Given the description of an element on the screen output the (x, y) to click on. 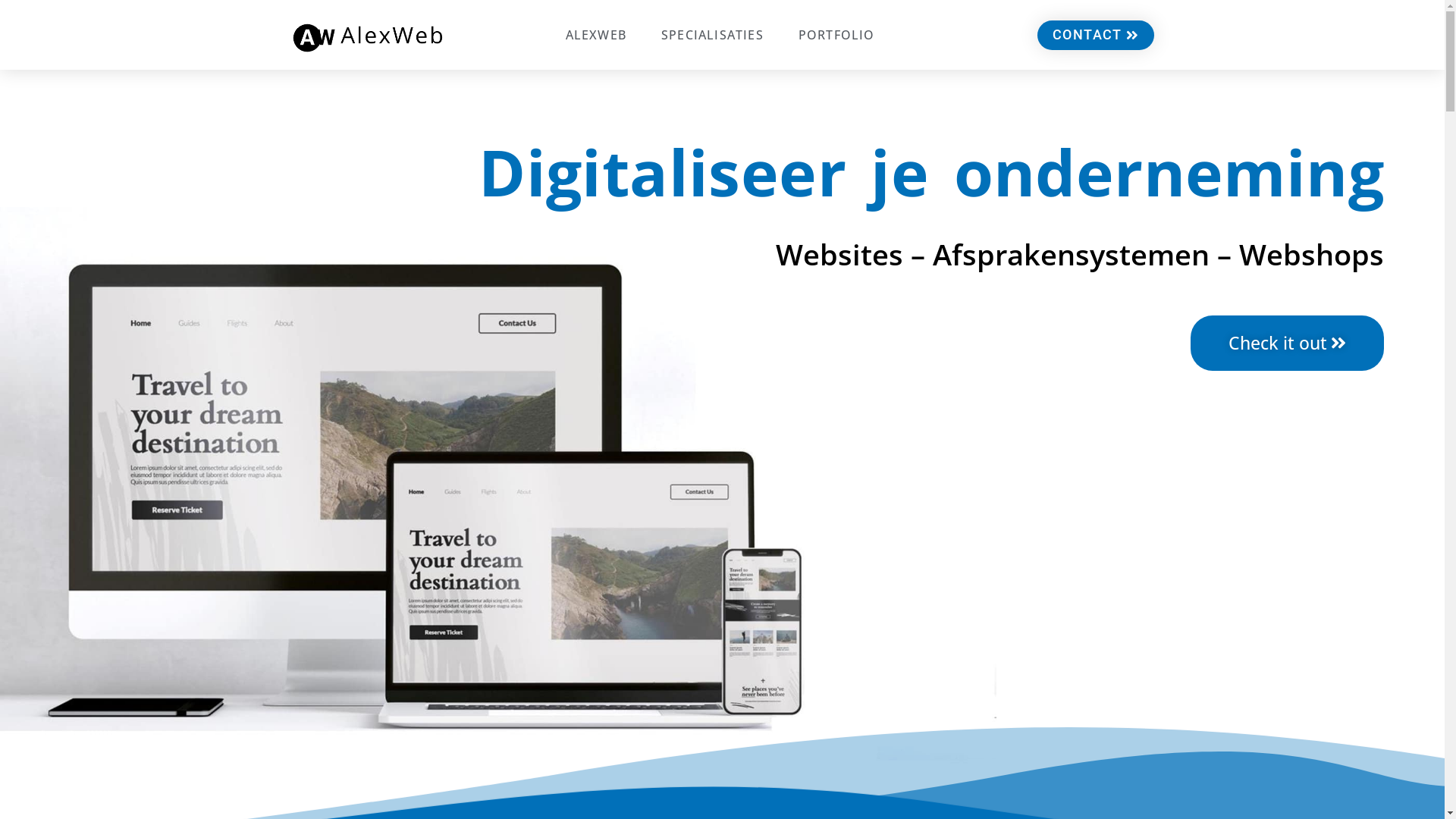
ALEXWEB Element type: text (595, 34)
SPECIALISATIES Element type: text (712, 34)
Check it out Element type: text (1286, 342)
PORTFOLIO Element type: text (836, 34)
CONTACT Element type: text (1095, 35)
